Given the description of an element on the screen output the (x, y) to click on. 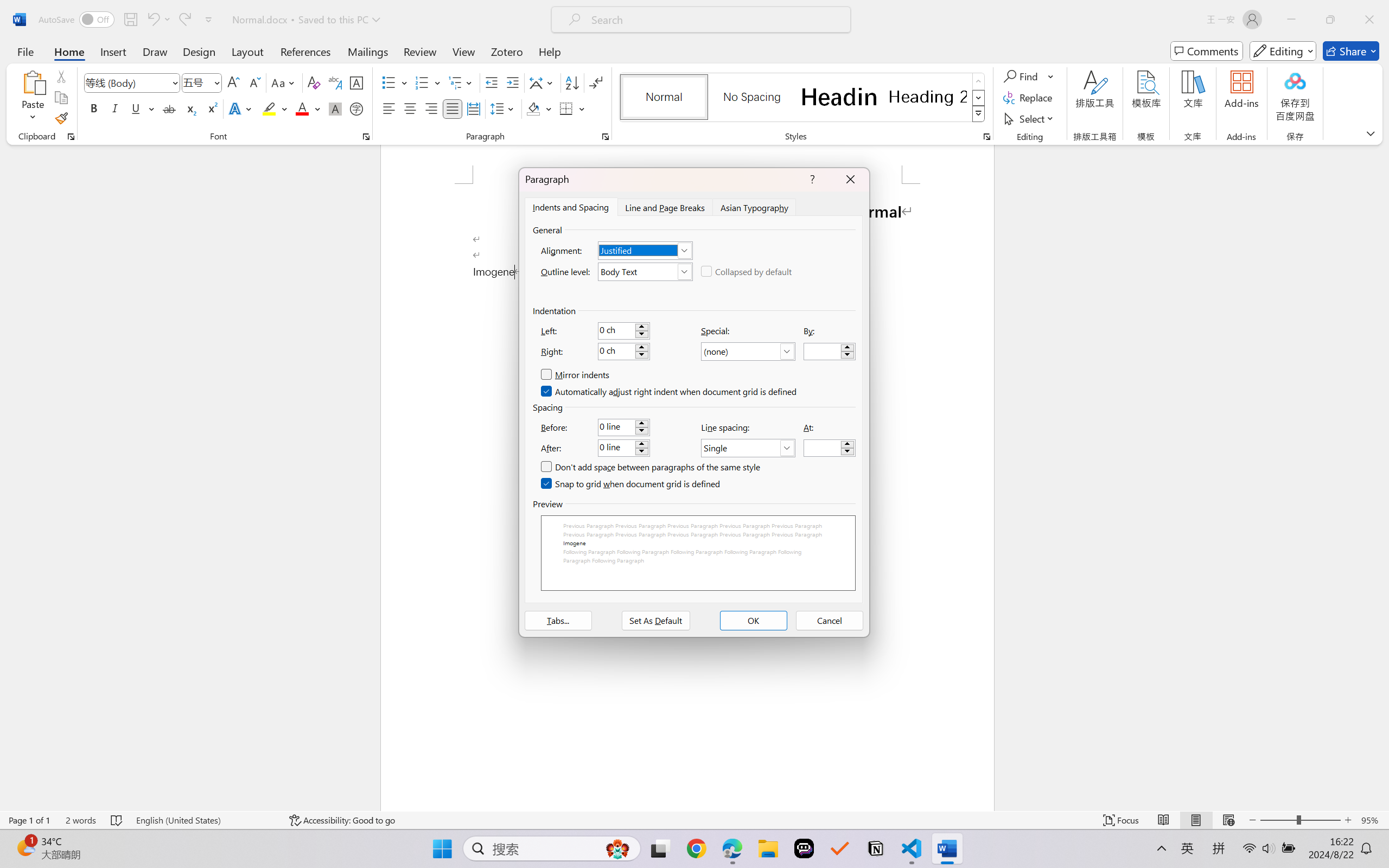
Character Shading (334, 108)
Class: NetUIScrollBar (1382, 477)
Text Highlight Color (274, 108)
Format Painter (60, 118)
Tabs... (558, 620)
Microsoft search (715, 19)
Line and Paragraph Spacing (503, 108)
Character Border (356, 82)
At: (829, 447)
